Given the description of an element on the screen output the (x, y) to click on. 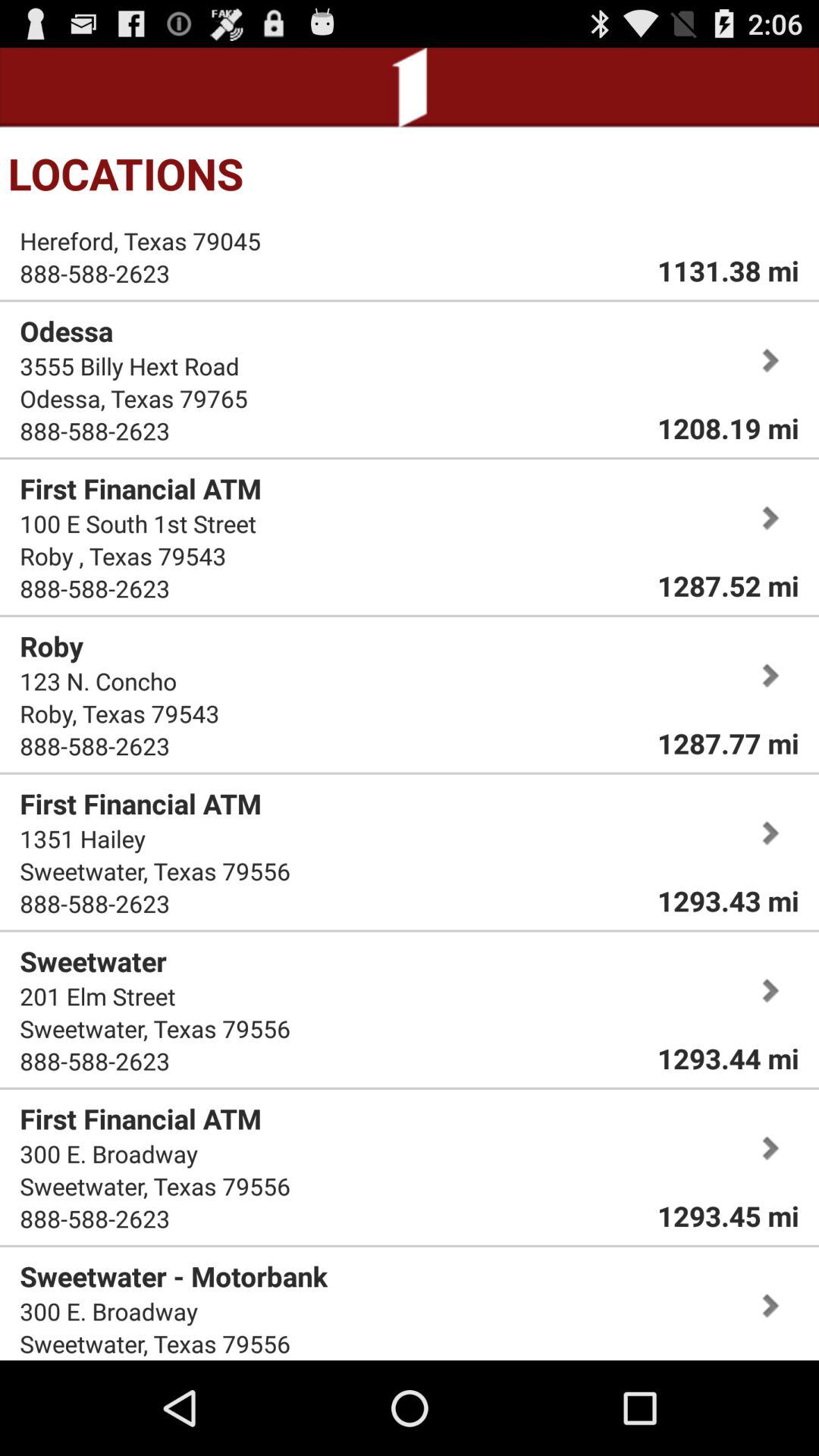
turn off app below the 205 e 1st app (140, 240)
